Given the description of an element on the screen output the (x, y) to click on. 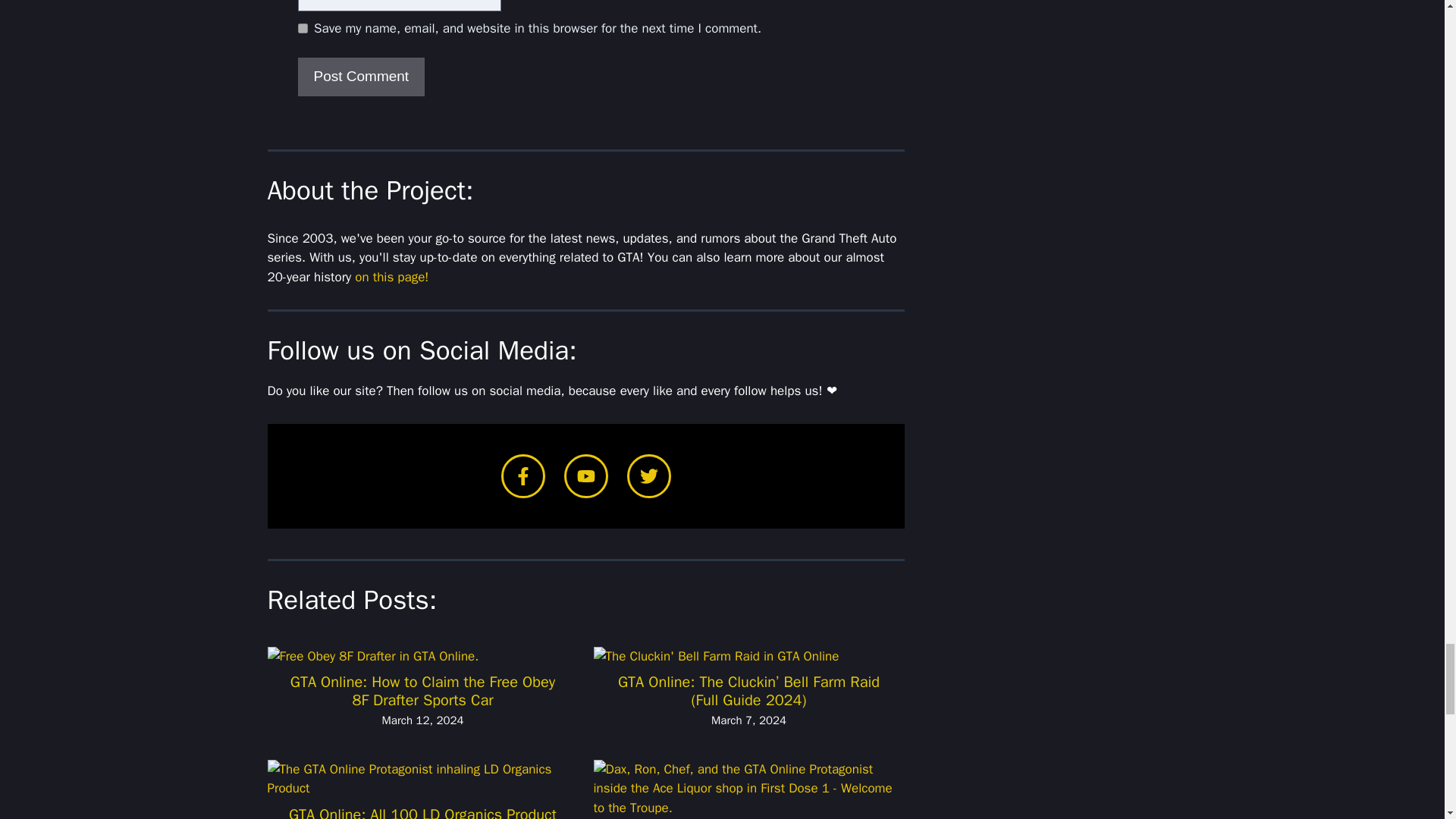
on this page! (391, 277)
Post Comment (361, 76)
GTA Online: How to Claim the Free Obey 8F Drafter Sports Car (422, 691)
GTA Online: All 100 LD Organics Product Locations (422, 812)
yes (302, 28)
Post Comment (361, 76)
